Given the description of an element on the screen output the (x, y) to click on. 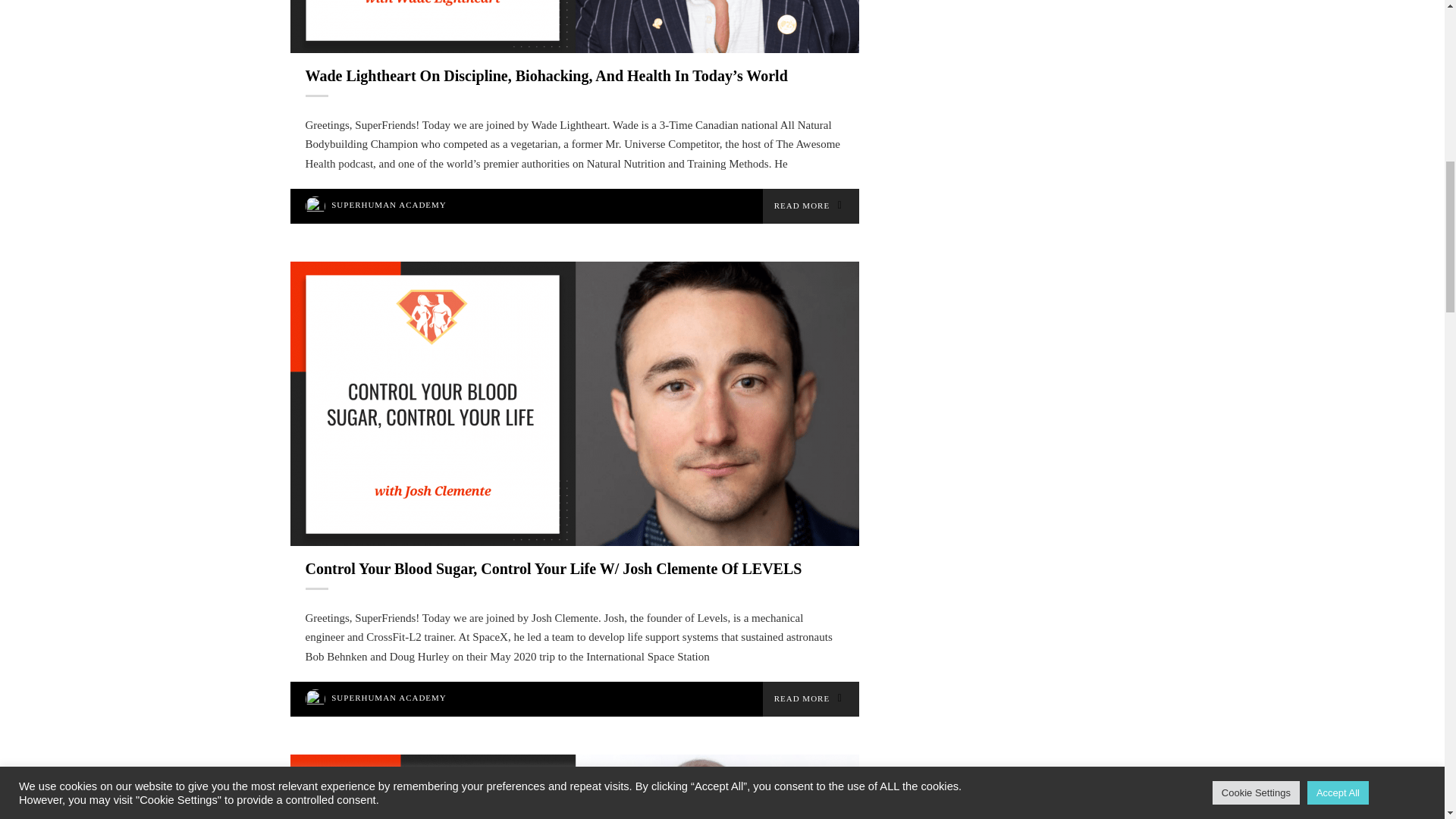
View all posts by SuperHuman Academy (388, 204)
READ MORE (810, 206)
READ MORE (810, 698)
SUPERHUMAN ACADEMY (388, 204)
SUPERHUMAN ACADEMY (388, 696)
View all posts by SuperHuman Academy (388, 696)
